Given the description of an element on the screen output the (x, y) to click on. 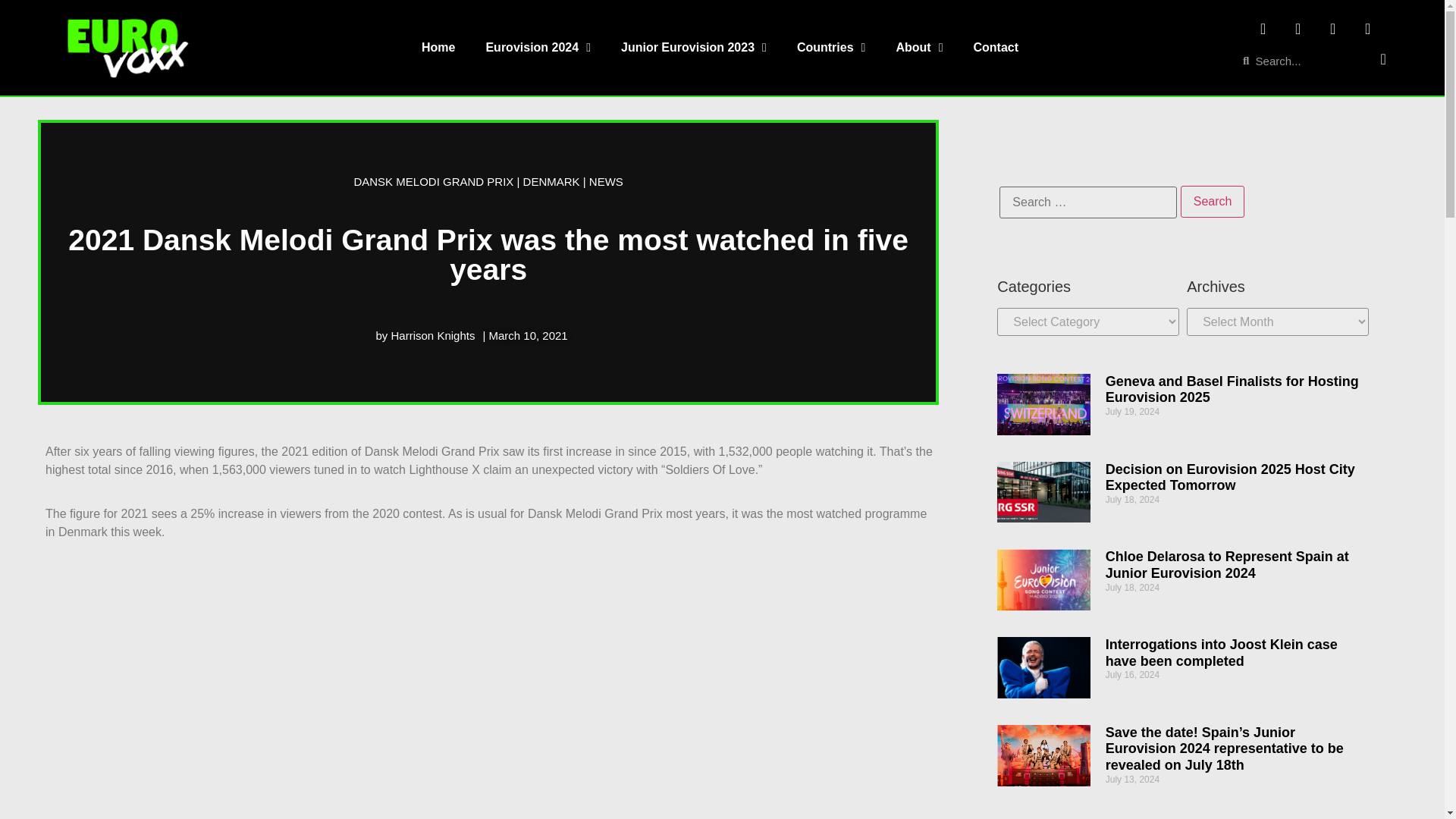
Search (1212, 201)
Search (1212, 201)
